Given the description of an element on the screen output the (x, y) to click on. 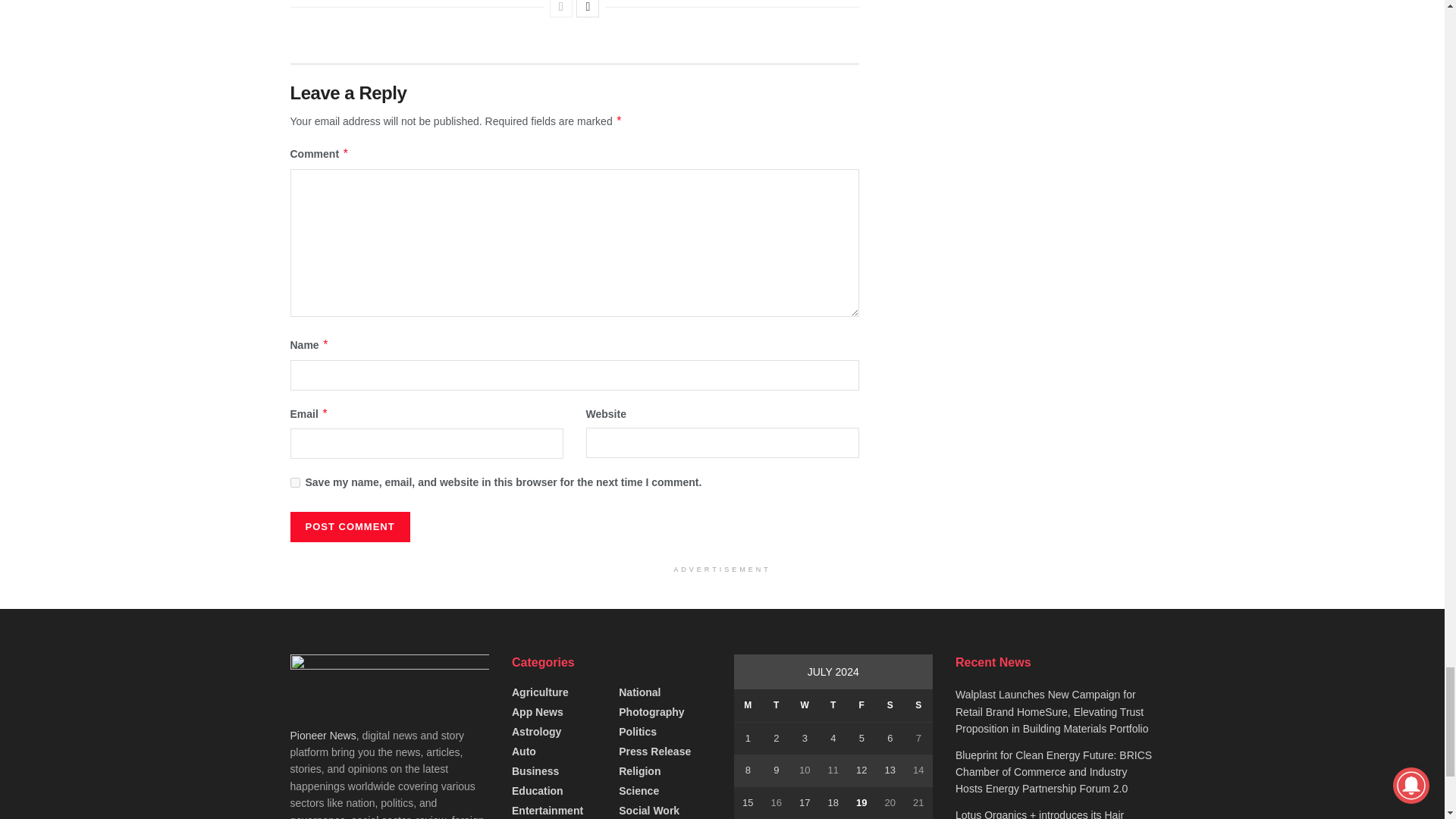
Saturday (890, 705)
Thursday (832, 705)
Sunday (918, 705)
Post Comment (349, 526)
Previous (561, 8)
Friday (861, 705)
Next (587, 8)
yes (294, 482)
Wednesday (804, 705)
Tuesday (775, 705)
Monday (747, 705)
